Given the description of an element on the screen output the (x, y) to click on. 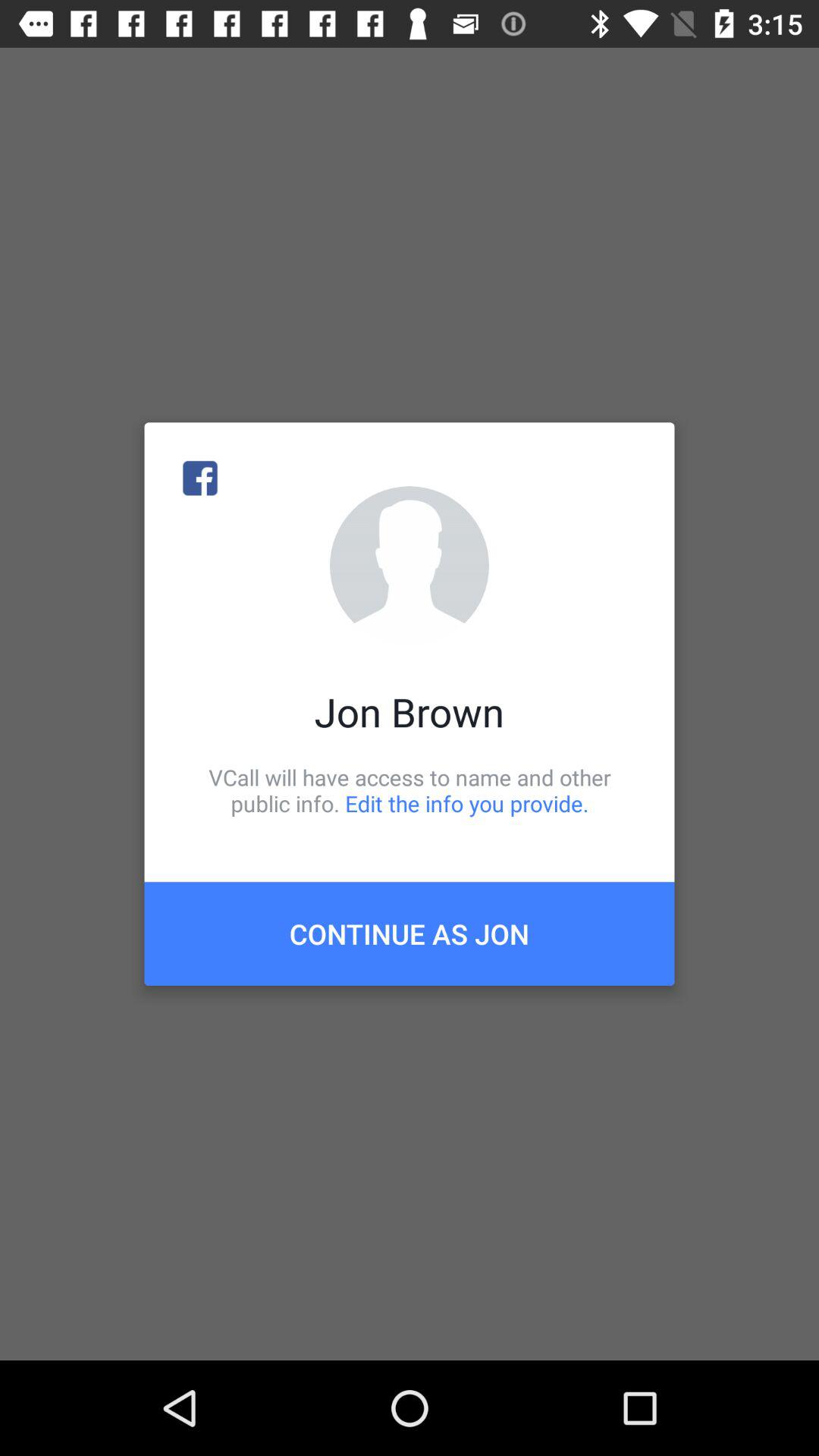
scroll to vcall will have icon (409, 790)
